Given the description of an element on the screen output the (x, y) to click on. 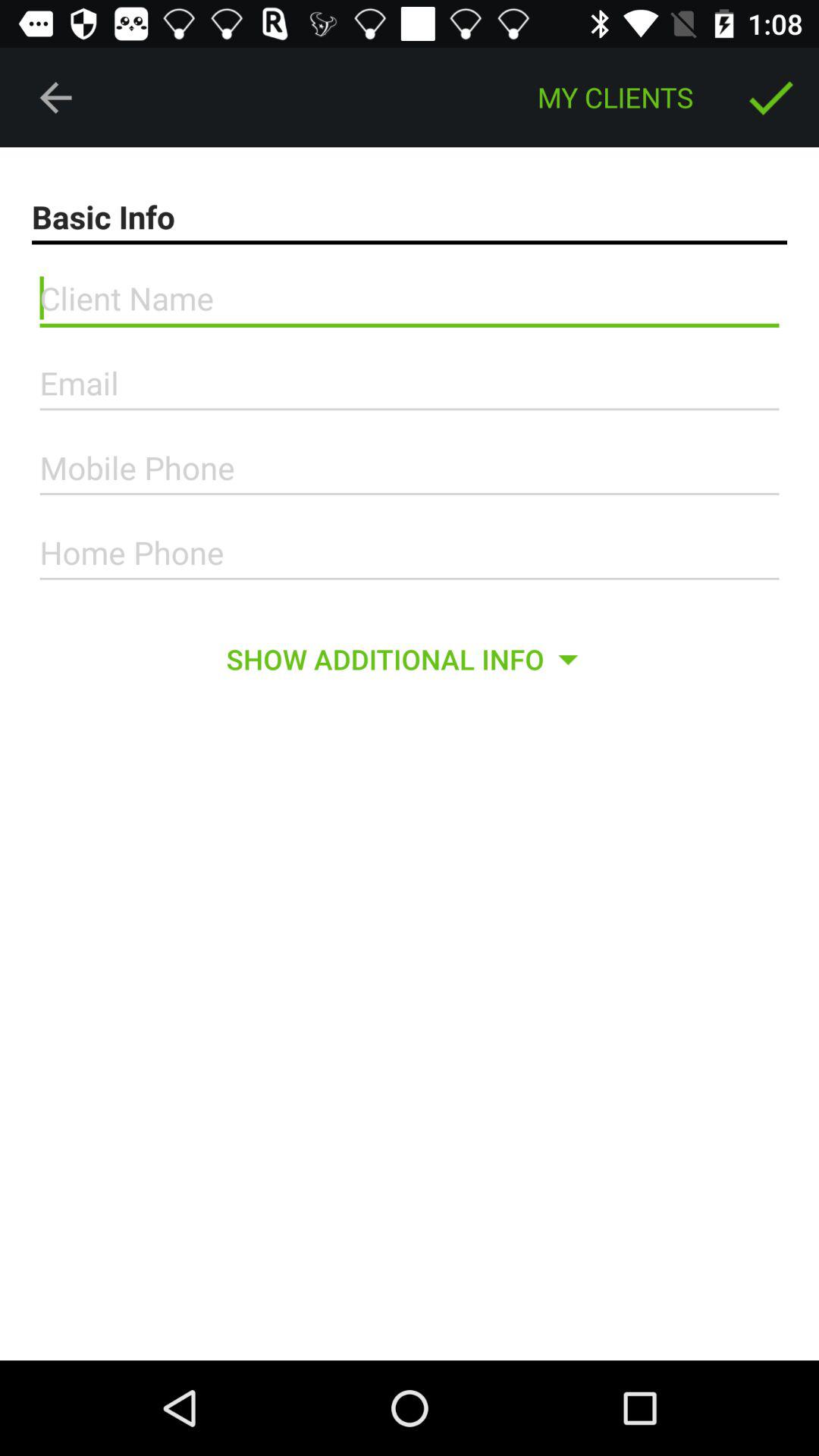
jump until show additional info (409, 658)
